Given the description of an element on the screen output the (x, y) to click on. 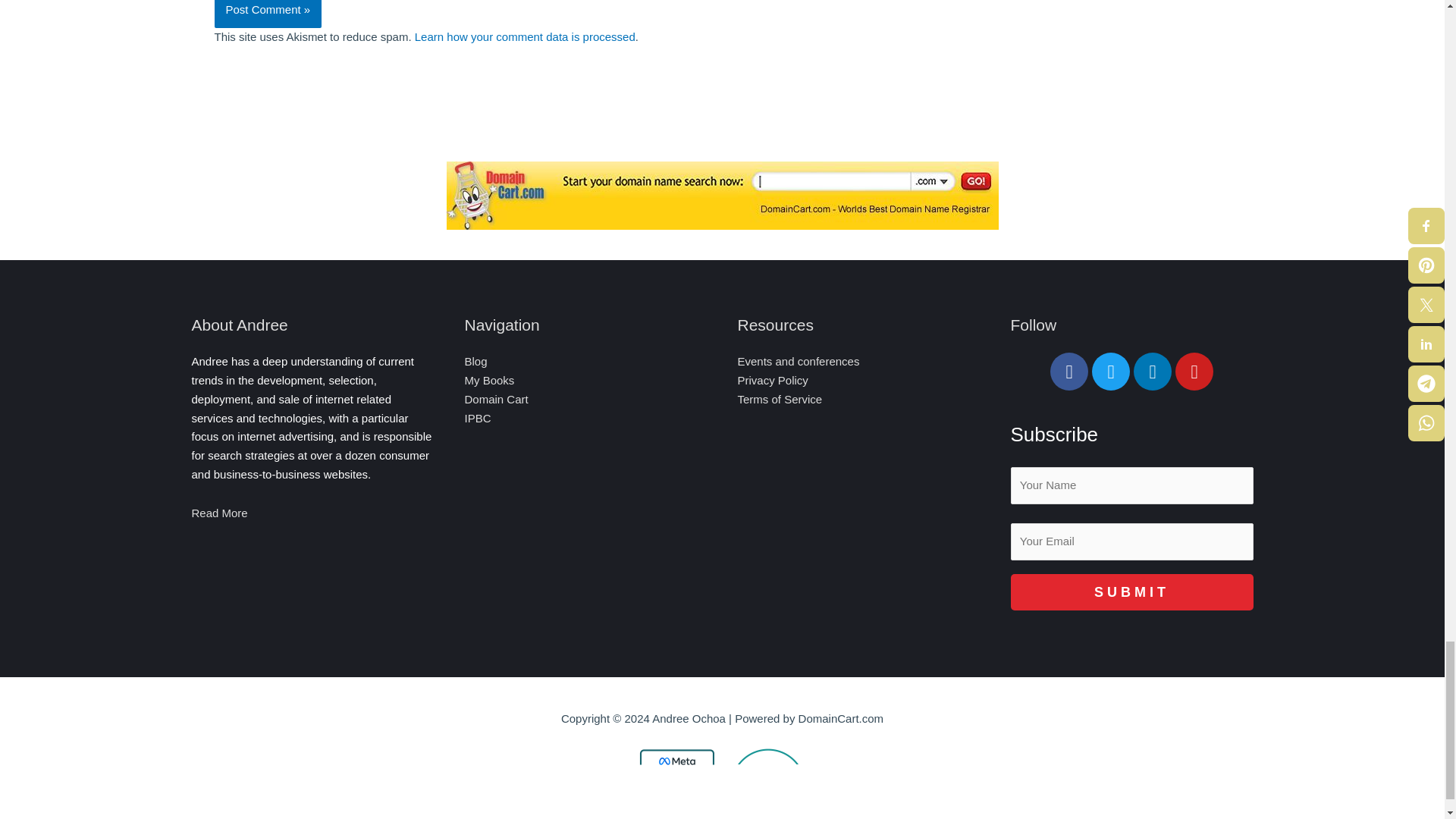
Submit (1131, 592)
